Given the description of an element on the screen output the (x, y) to click on. 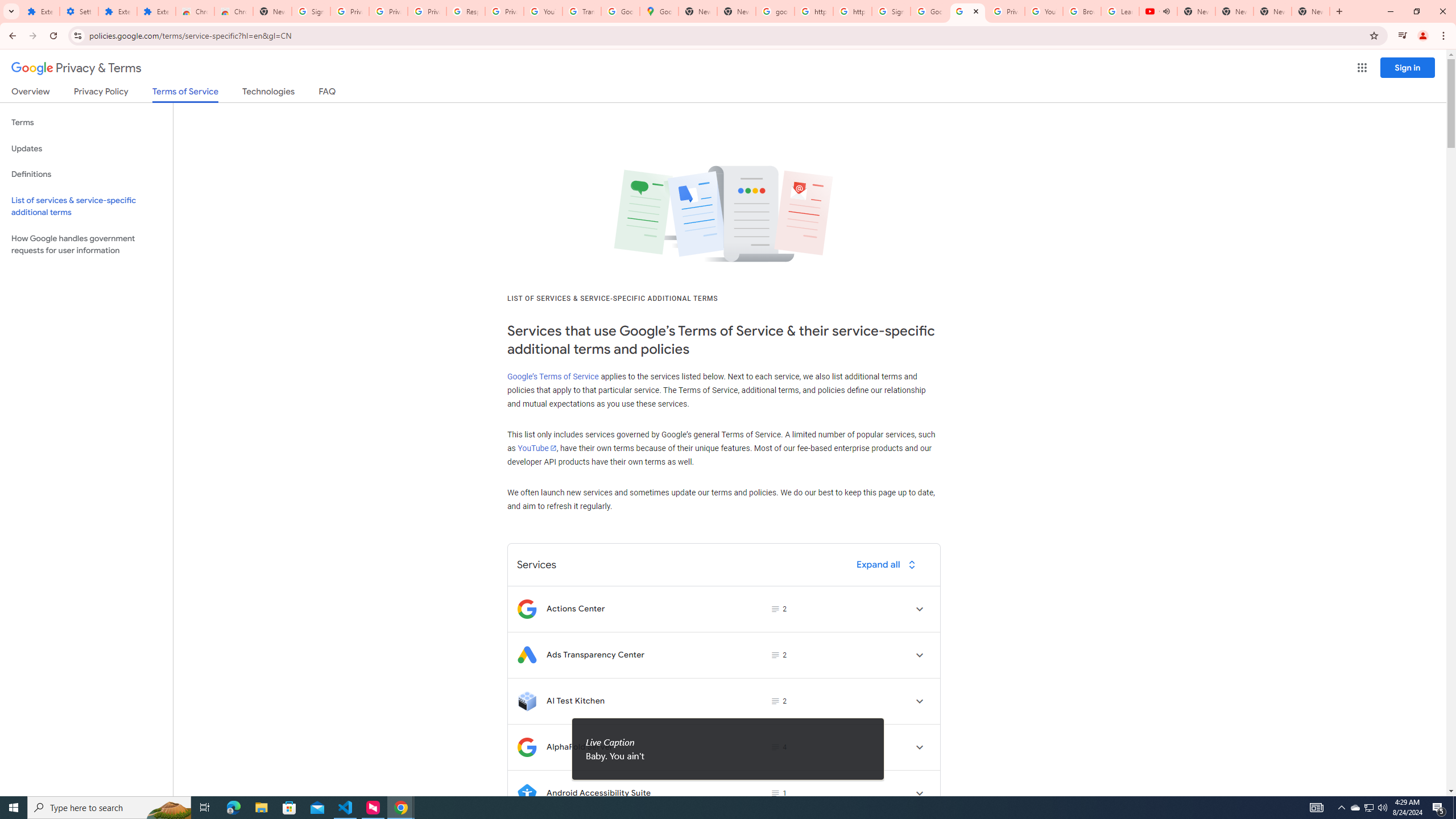
Extensions (156, 11)
Sign in - Google Accounts (890, 11)
Sign in - Google Accounts (310, 11)
Expand all (888, 564)
Chrome Web Store - Themes (233, 11)
